Given the description of an element on the screen output the (x, y) to click on. 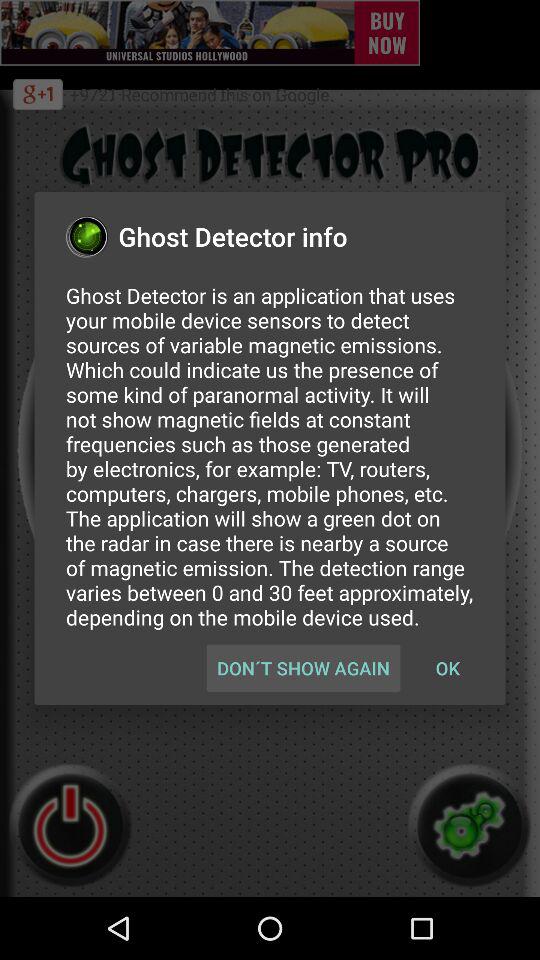
choose the icon below ghost detector is app (447, 667)
